Given the description of an element on the screen output the (x, y) to click on. 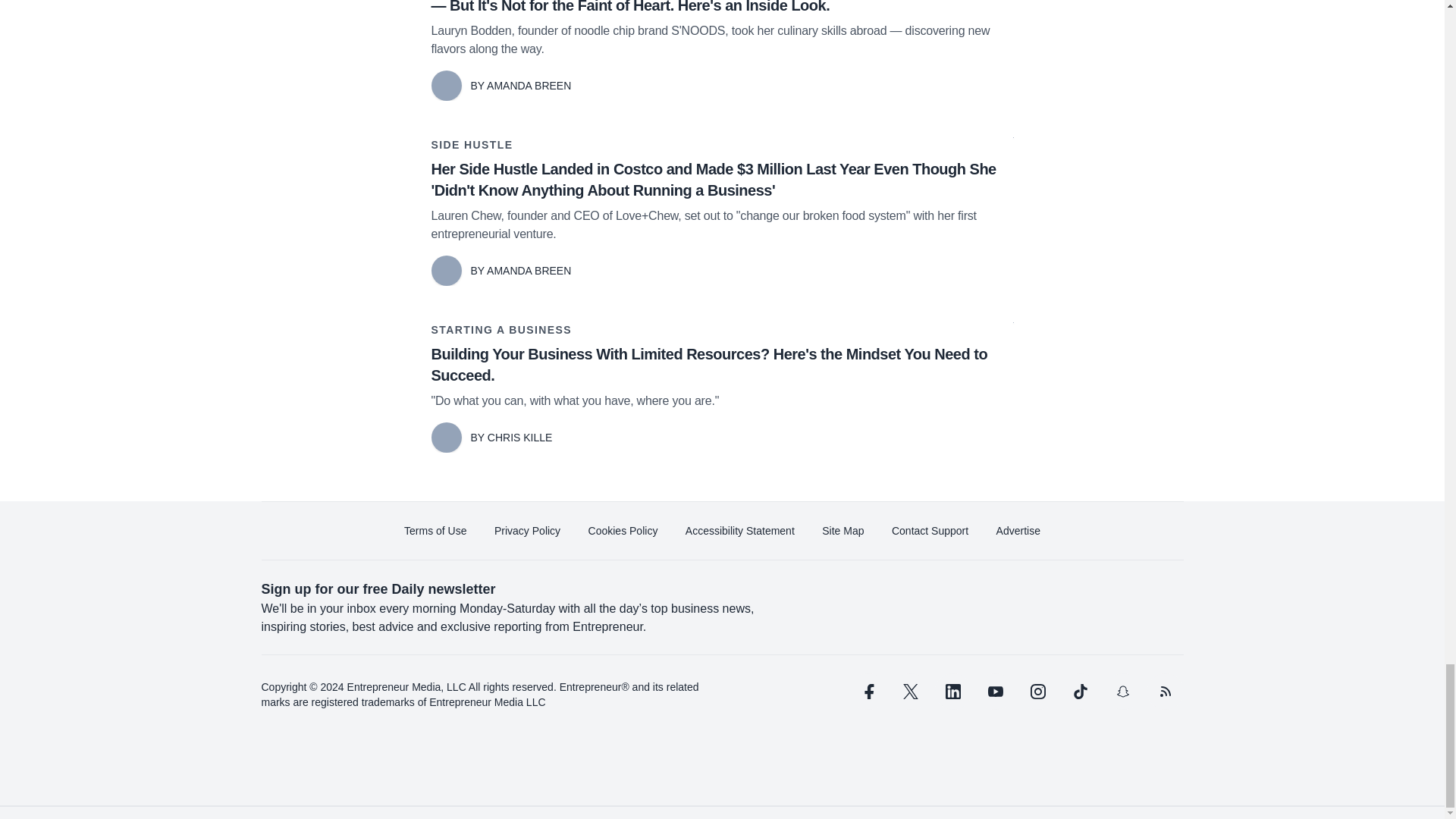
snapchat (1121, 691)
youtube (994, 691)
tiktok (1079, 691)
instagram (1037, 691)
linkedin (952, 691)
facebook (866, 691)
twitter (909, 691)
